Given the description of an element on the screen output the (x, y) to click on. 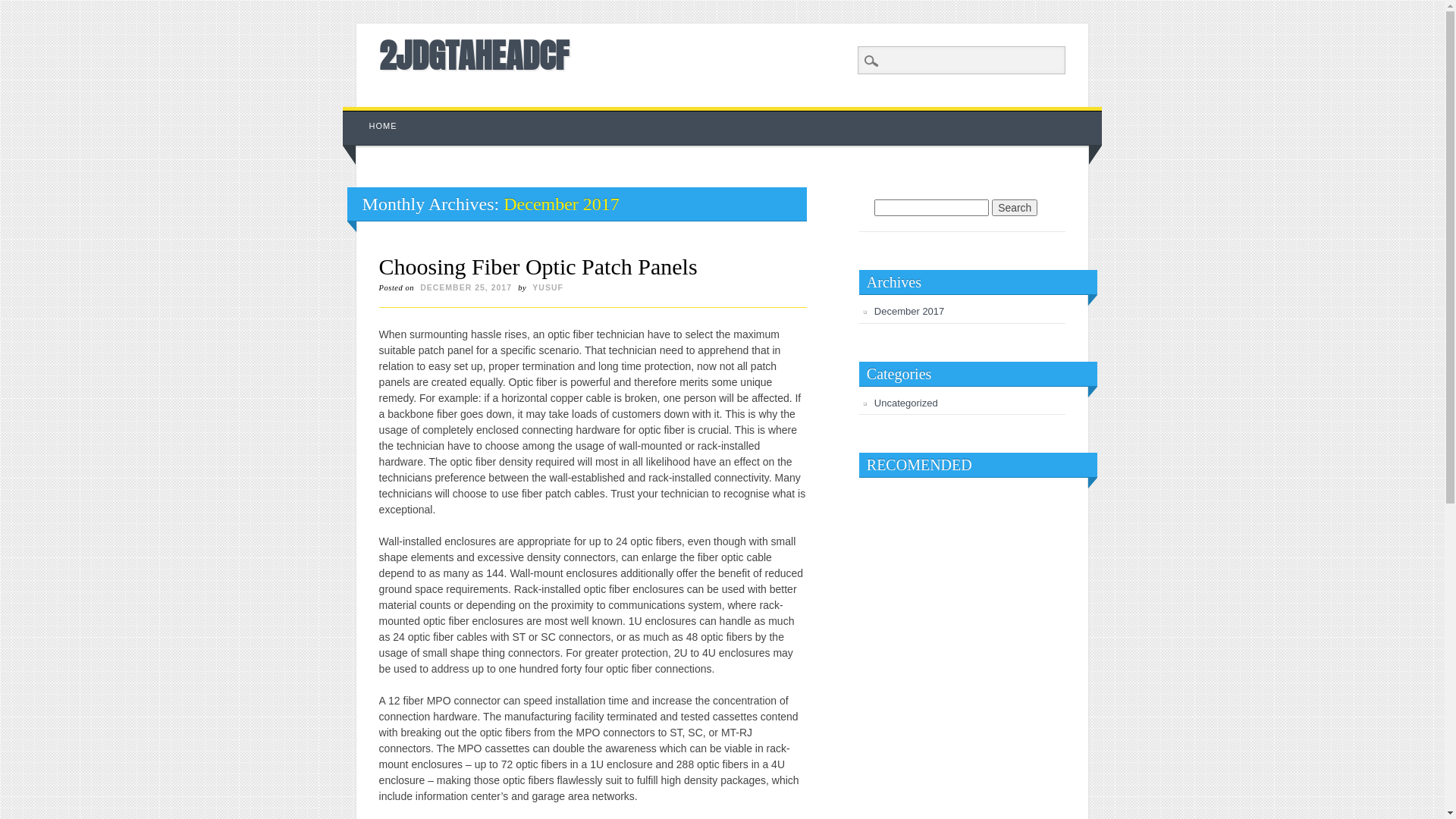
Search Element type: text (1014, 207)
Skip to content Element type: text (377, 114)
YUSUF Element type: text (547, 286)
2JDGTAHEADCF Element type: text (473, 55)
Choosing Fiber Optic Patch Panels Element type: text (538, 266)
Search Element type: text (22, 8)
December 2017 Element type: text (909, 310)
HOME Element type: text (383, 125)
Uncategorized Element type: text (906, 402)
DECEMBER 25, 2017 Element type: text (465, 286)
